Given the description of an element on the screen output the (x, y) to click on. 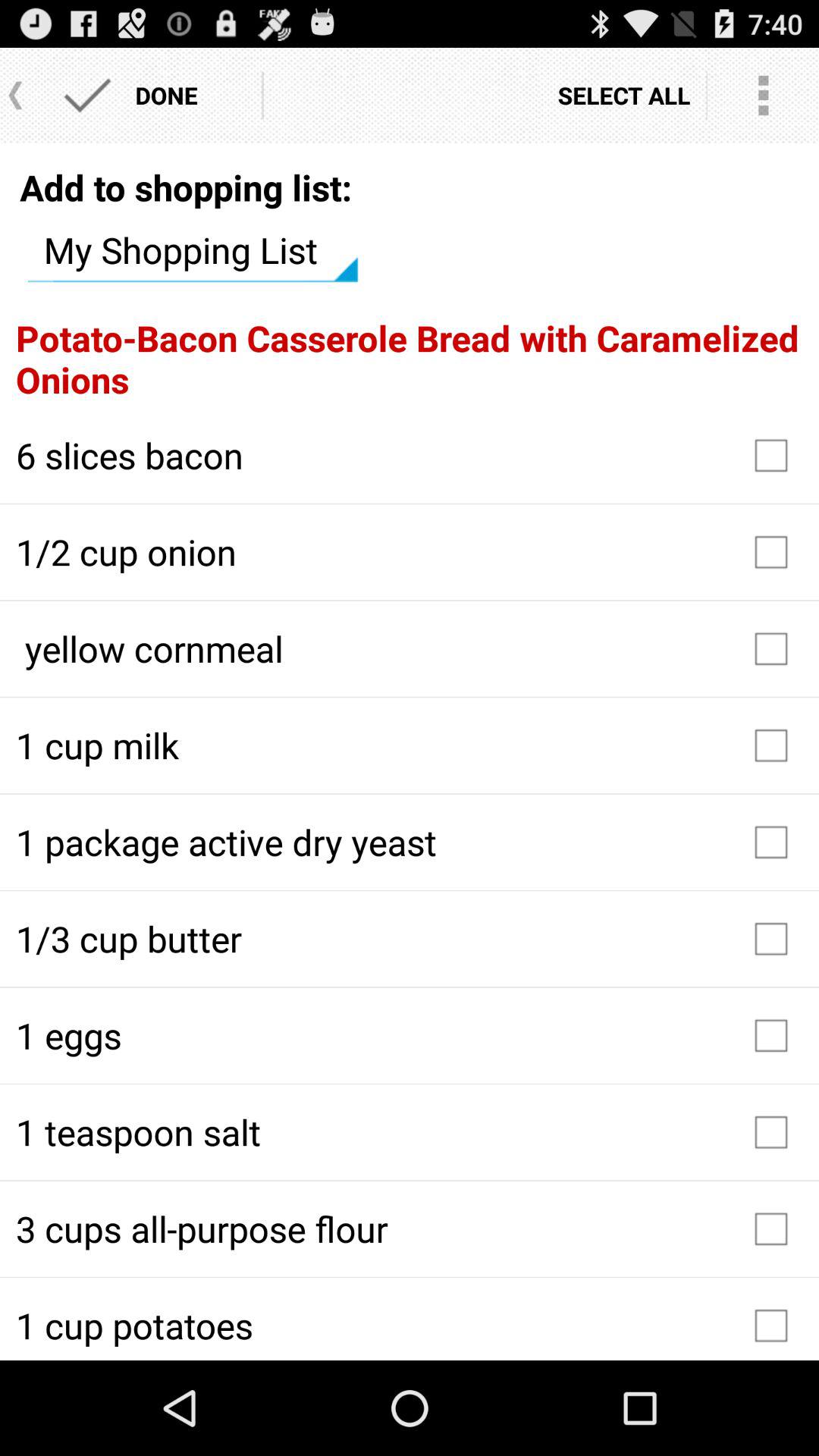
turn on the icon below the 1 eggs item (409, 1132)
